Given the description of an element on the screen output the (x, y) to click on. 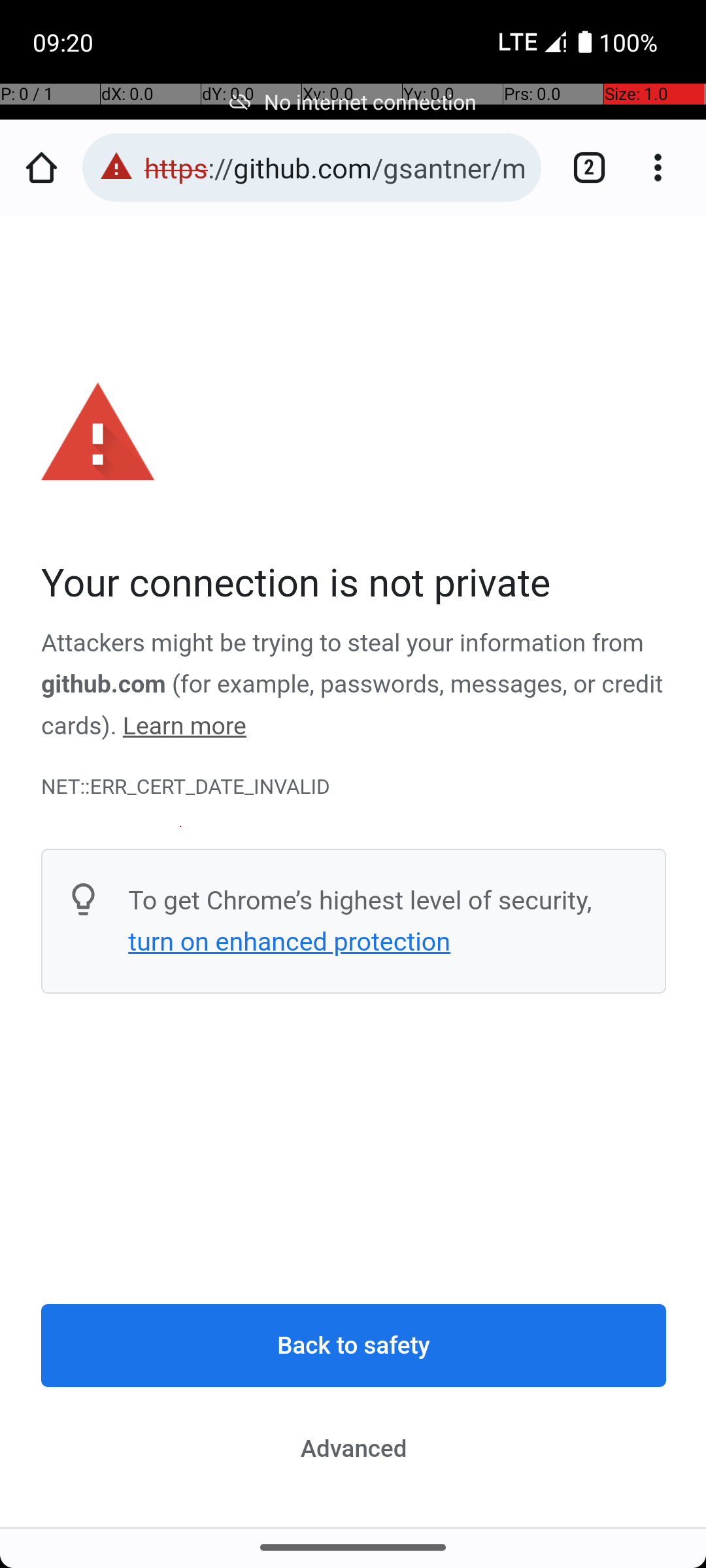
https://github.com/gsantner/markor/issues/new/choose Element type: android.widget.EditText (335, 167)
github.com Element type: android.widget.TextView (103, 684)
09:20 Element type: android.widget.TextView (64, 41)
